Given the description of an element on the screen output the (x, y) to click on. 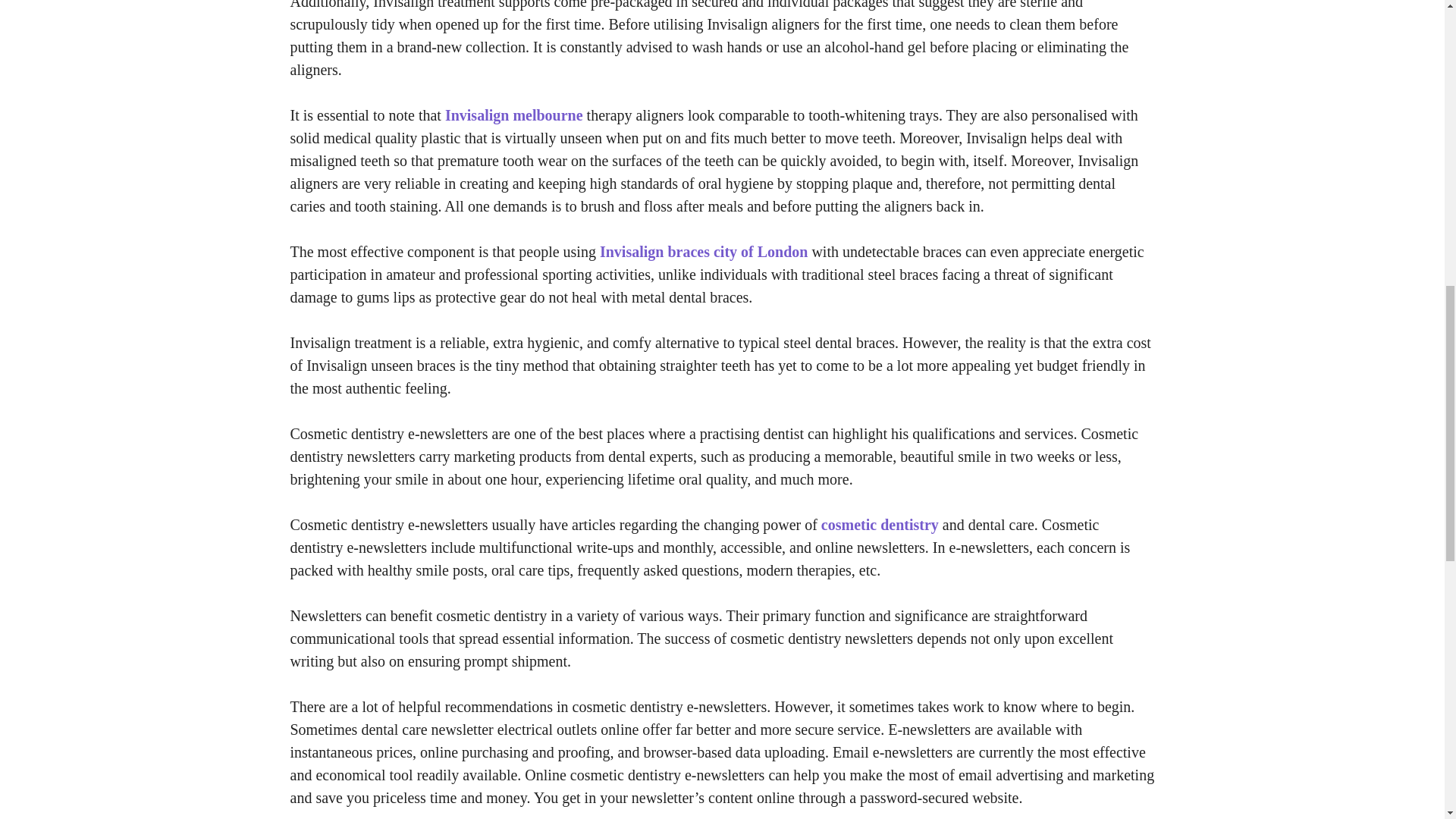
cosmetic dentistry (880, 524)
Invisalign melbourne (514, 115)
Invisalign braces city of London (703, 251)
